Given the description of an element on the screen output the (x, y) to click on. 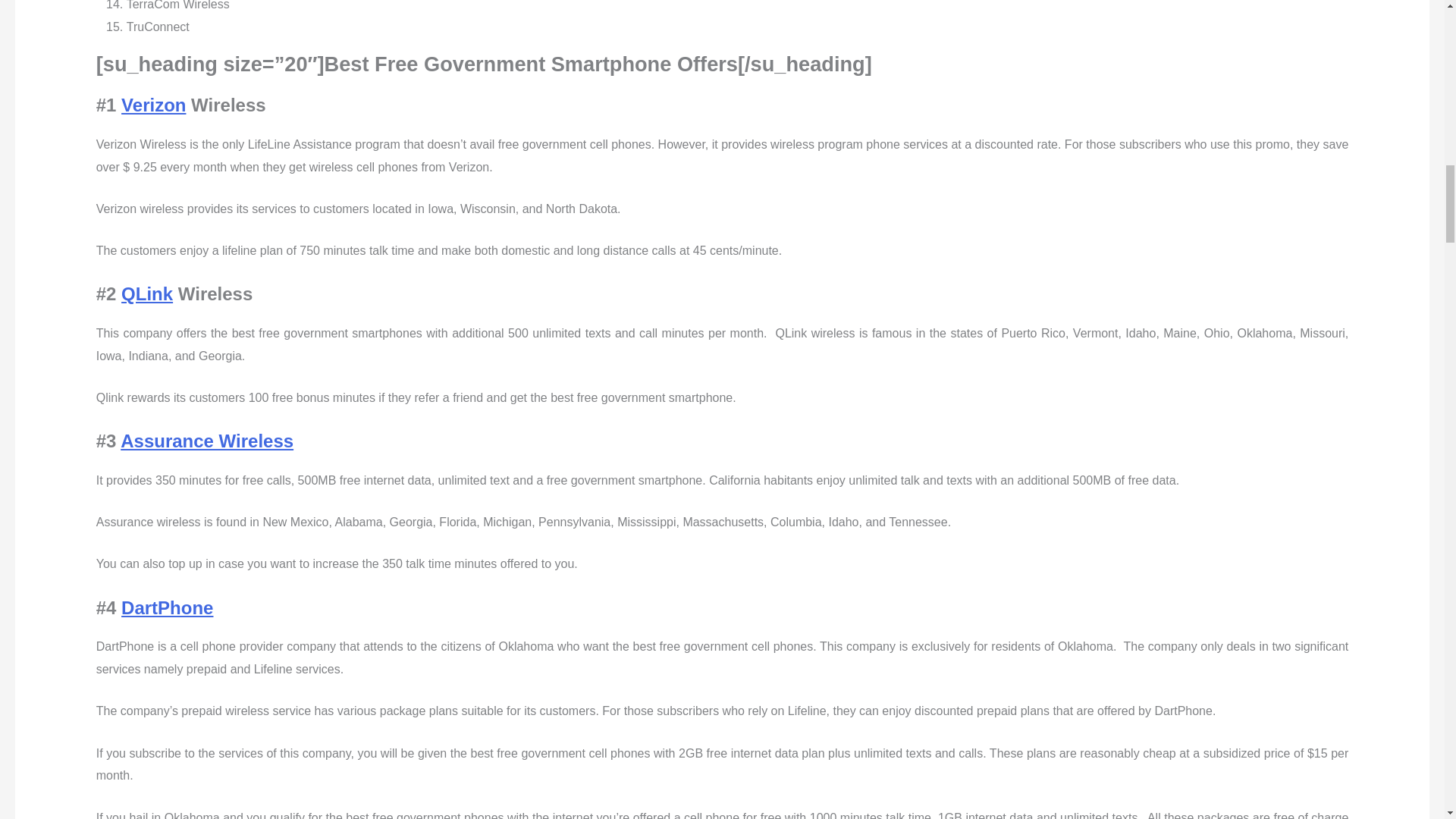
DartPhone (166, 607)
Verizon (153, 105)
Assurance Wireless (207, 440)
QLink (146, 293)
